Given the description of an element on the screen output the (x, y) to click on. 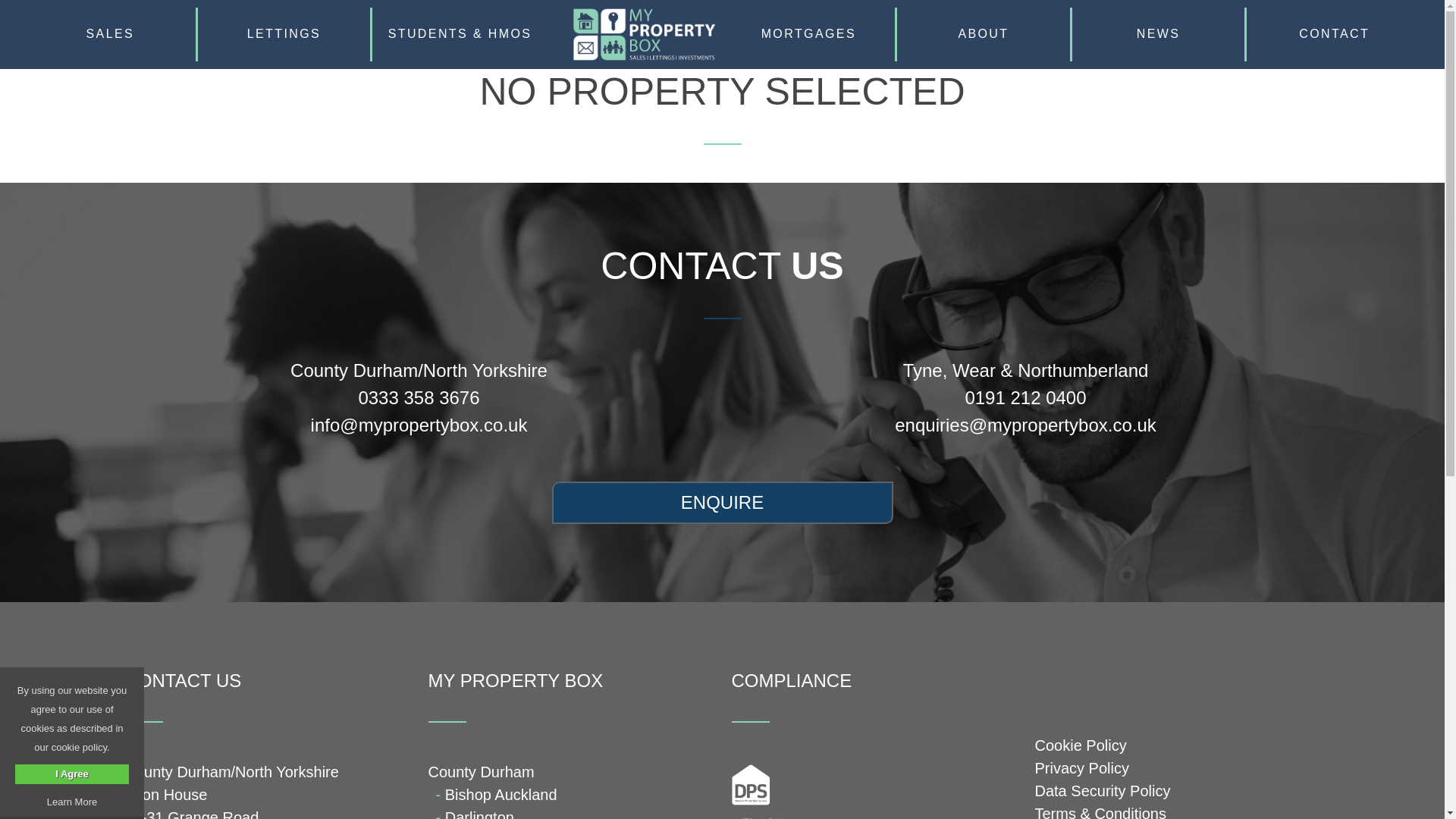
ABOUT (983, 34)
LETTINGS (284, 34)
read our cookie policy (71, 801)
MORTGAGES (808, 34)
NEWS (1157, 34)
SALES (109, 34)
CONTACT (1334, 34)
